Given the description of an element on the screen output the (x, y) to click on. 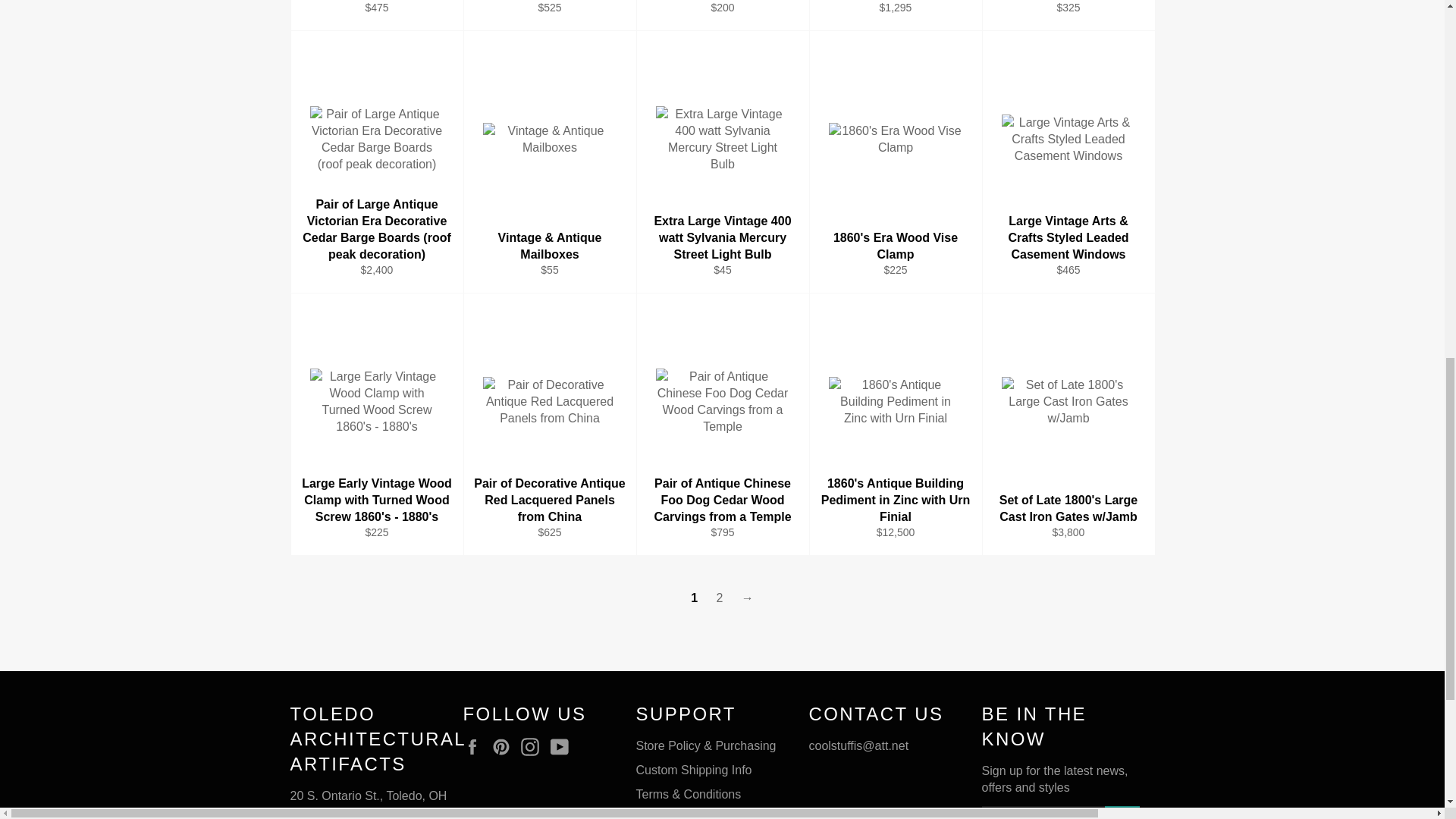
Toledo Architectural Artifacts, Inc on Instagram (534, 746)
Toledo Architectural Artifacts, Inc on Facebook (475, 746)
Toledo Architectural Artifacts, Inc on Pinterest (505, 746)
Toledo Architectural Artifacts, Inc on YouTube (563, 746)
